Given the description of an element on the screen output the (x, y) to click on. 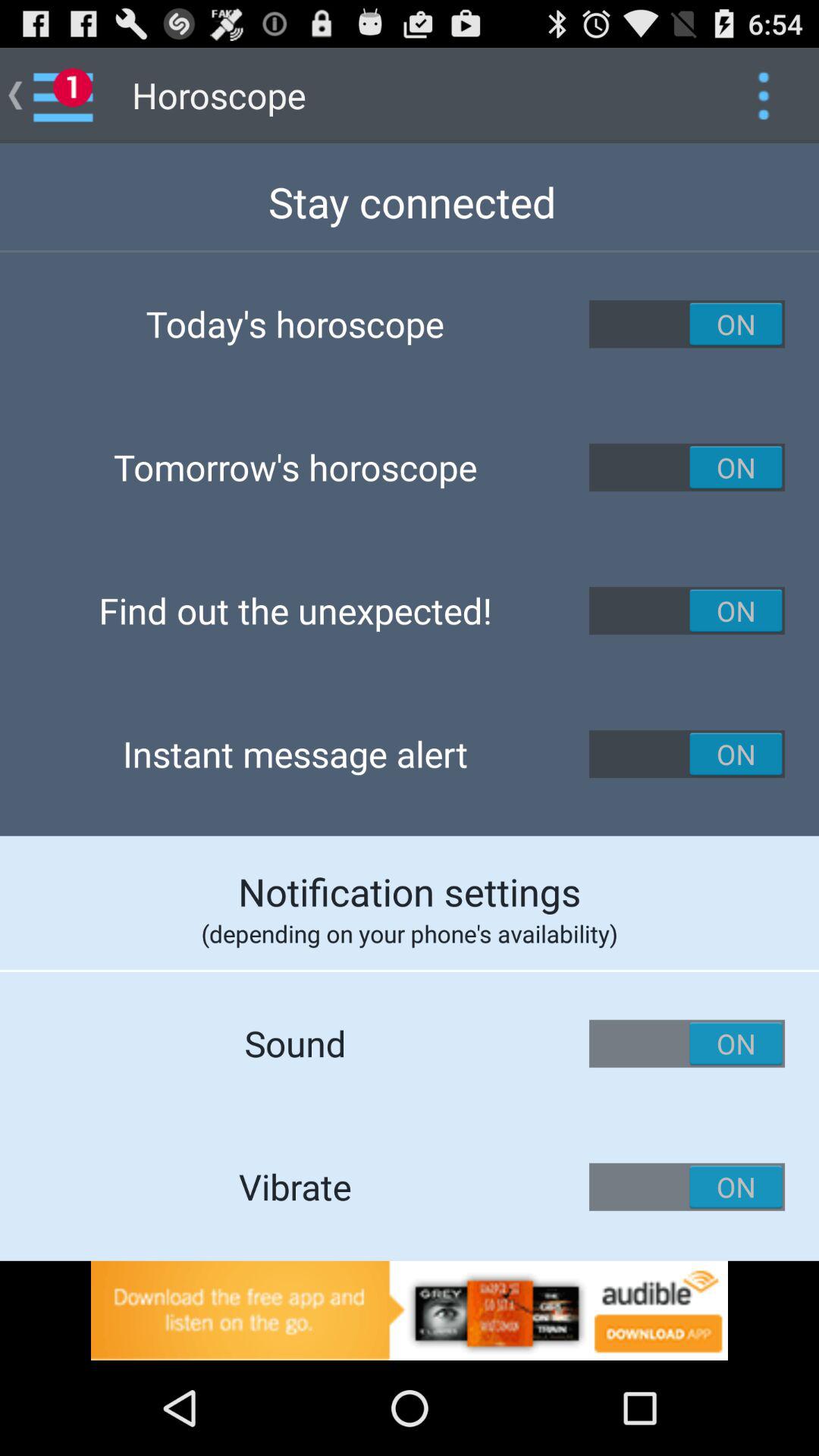
advertising pop up banner (409, 1310)
